Given the description of an element on the screen output the (x, y) to click on. 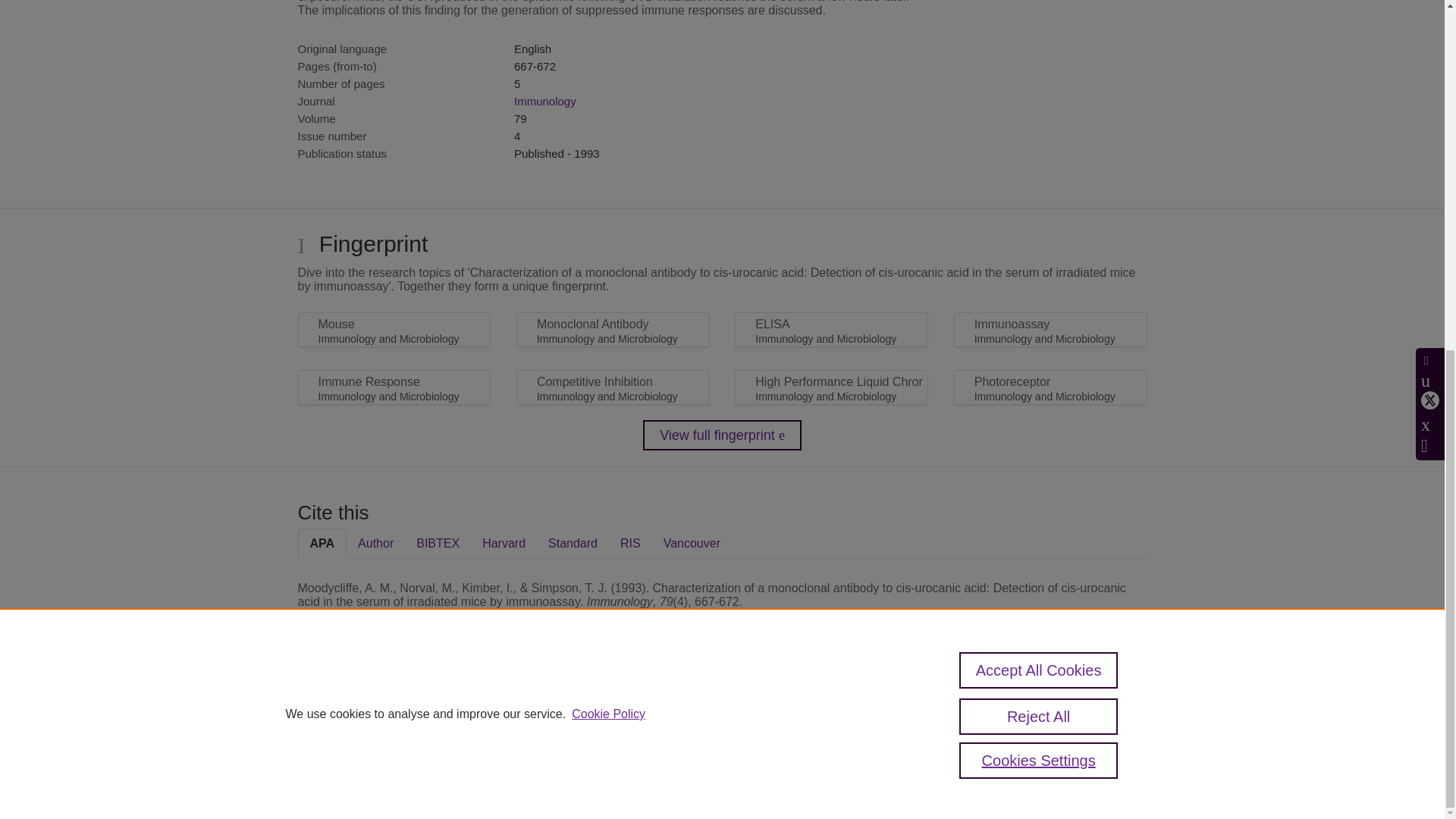
Cookies Settings (334, 780)
Pure (362, 707)
Immunology (544, 101)
Elsevier B.V. (506, 727)
Scopus (394, 707)
View full fingerprint (722, 435)
use of cookies (796, 759)
